Given the description of an element on the screen output the (x, y) to click on. 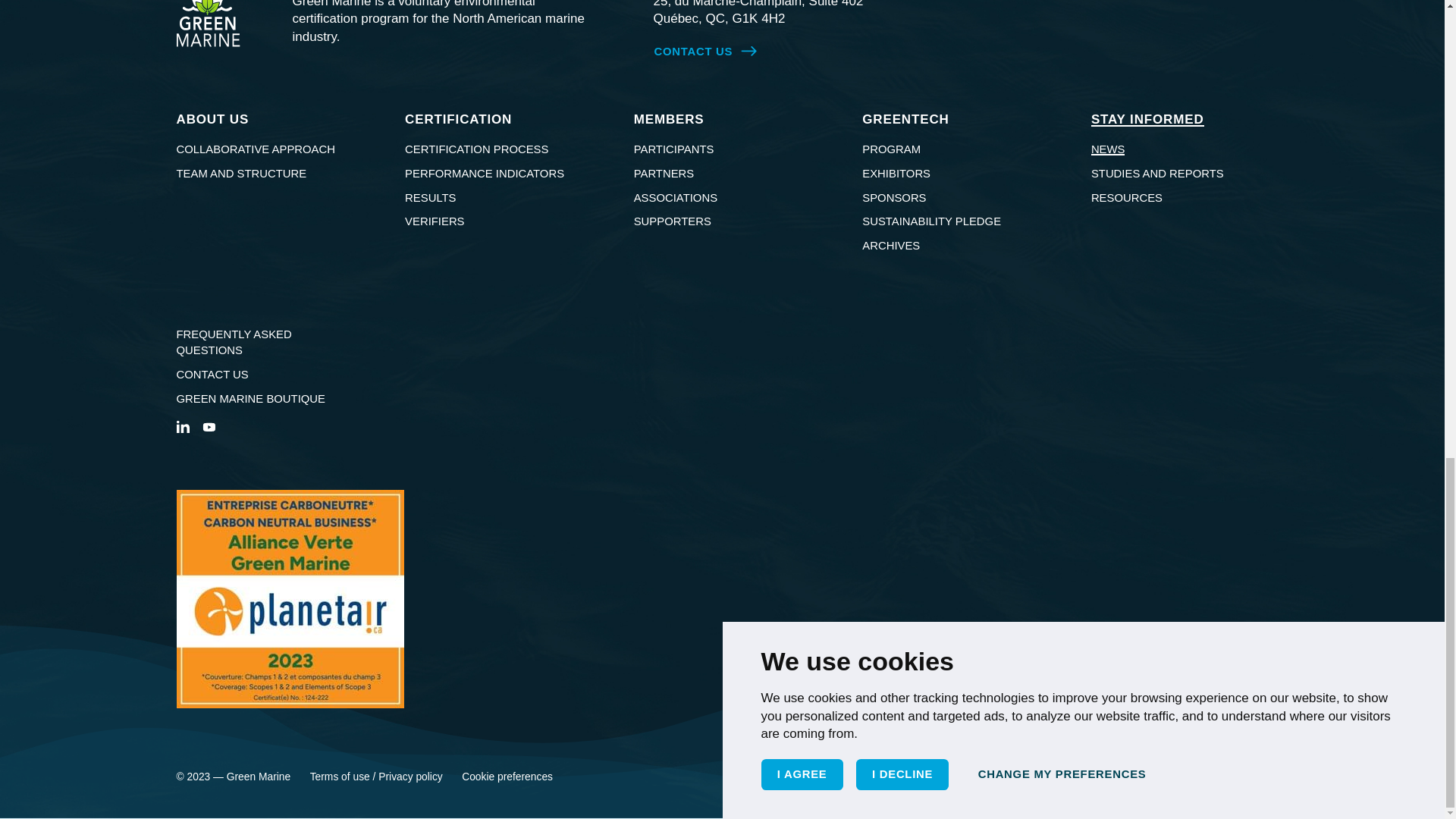
LinkedIn (182, 426)
YouTube (208, 426)
